Given the description of an element on the screen output the (x, y) to click on. 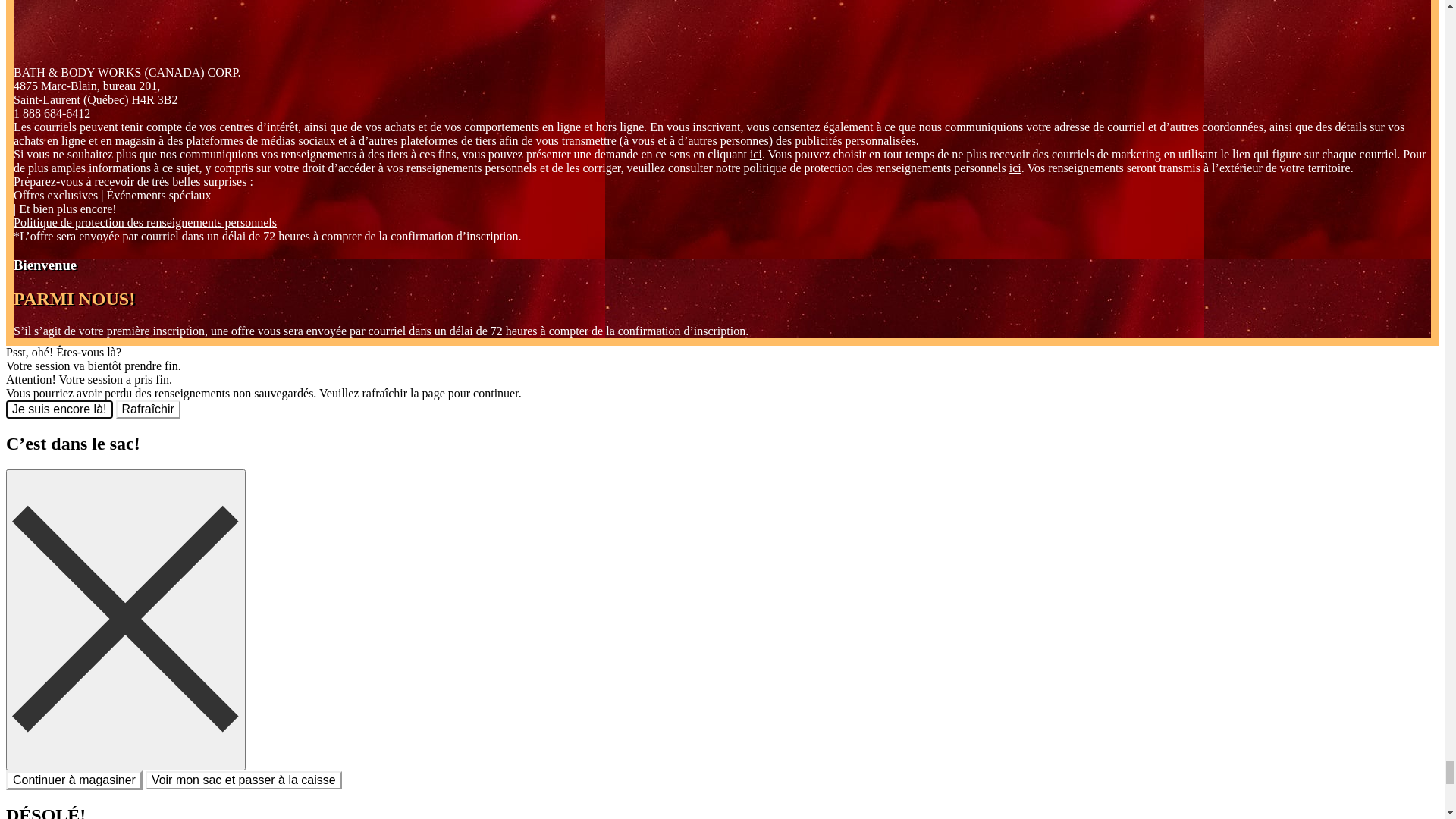
Passer au contenu principal Element type: text (74, 12)
en Element type: text (13, 53)
Passer au contenu du bas de la page Element type: text (229, 12)
fr Element type: text (31, 53)
Menu Element type: text (32, 90)
